Given the description of an element on the screen output the (x, y) to click on. 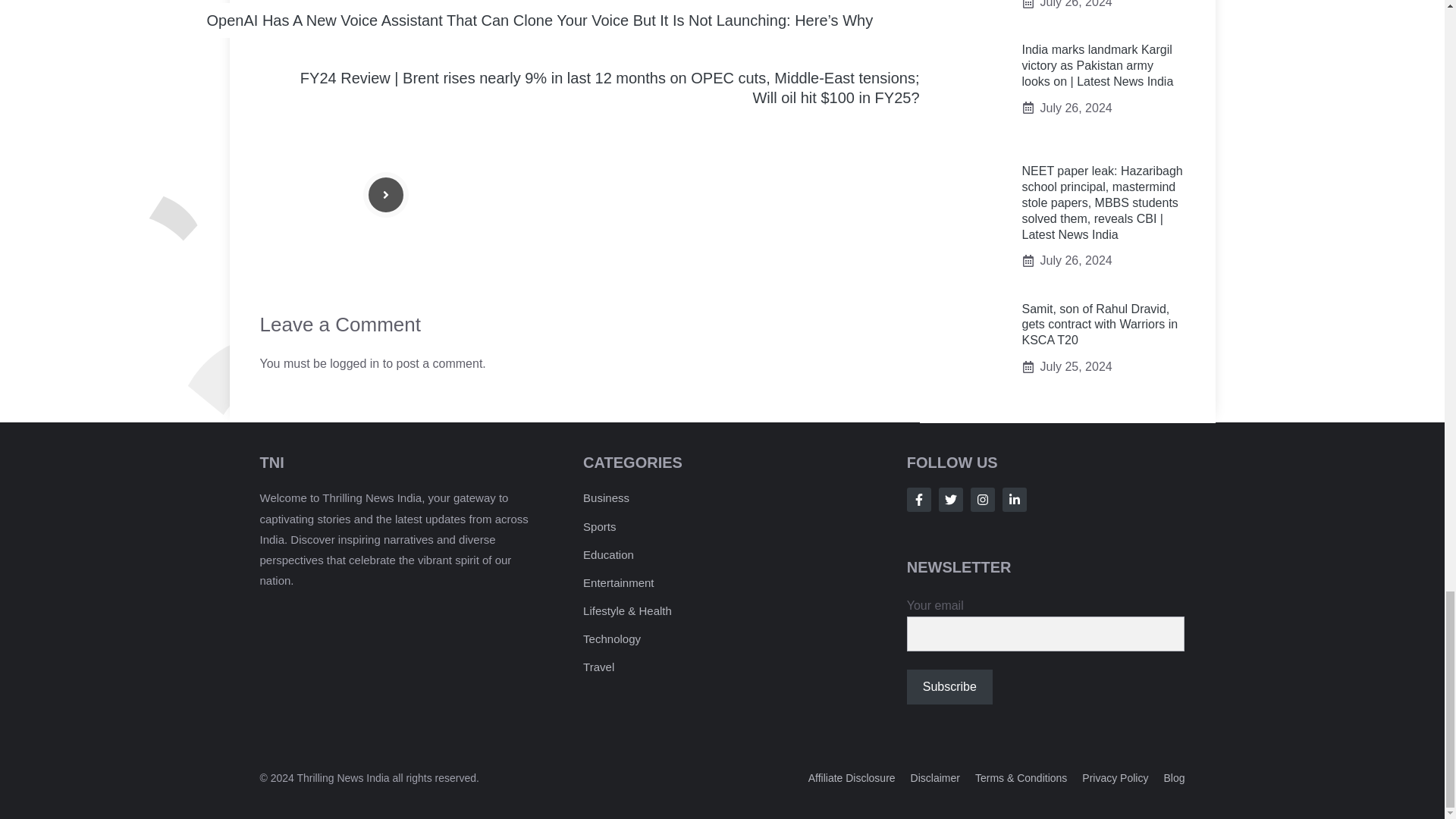
Travel (598, 666)
Education (608, 554)
Subscribe (949, 686)
logged in (354, 363)
Business (605, 497)
Sports (599, 526)
Technology (611, 638)
Entertainment (618, 582)
